Given the description of an element on the screen output the (x, y) to click on. 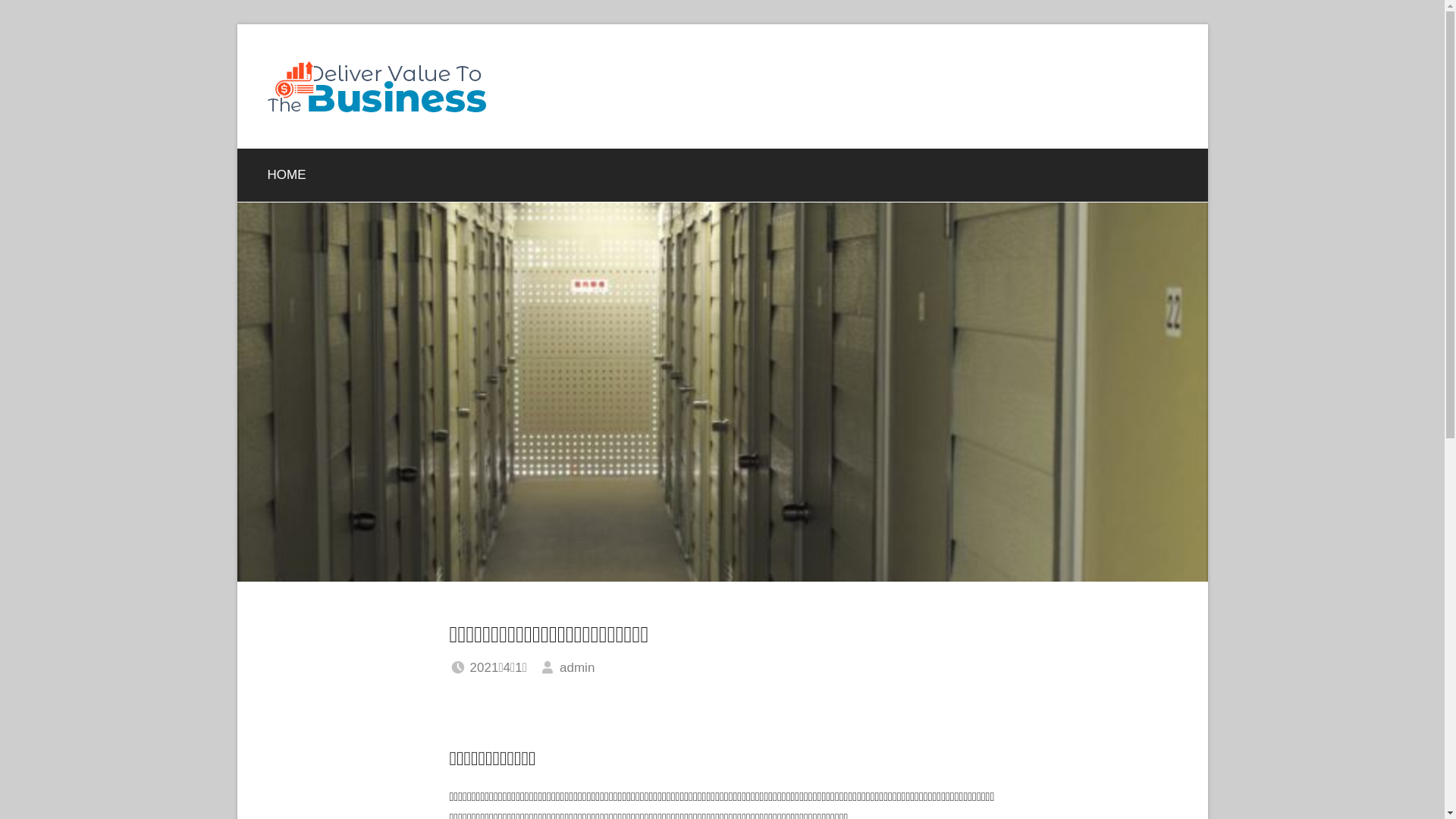
Skip to content Element type: text (236, 23)
admin Element type: text (576, 667)
HOME Element type: text (285, 174)
